Given the description of an element on the screen output the (x, y) to click on. 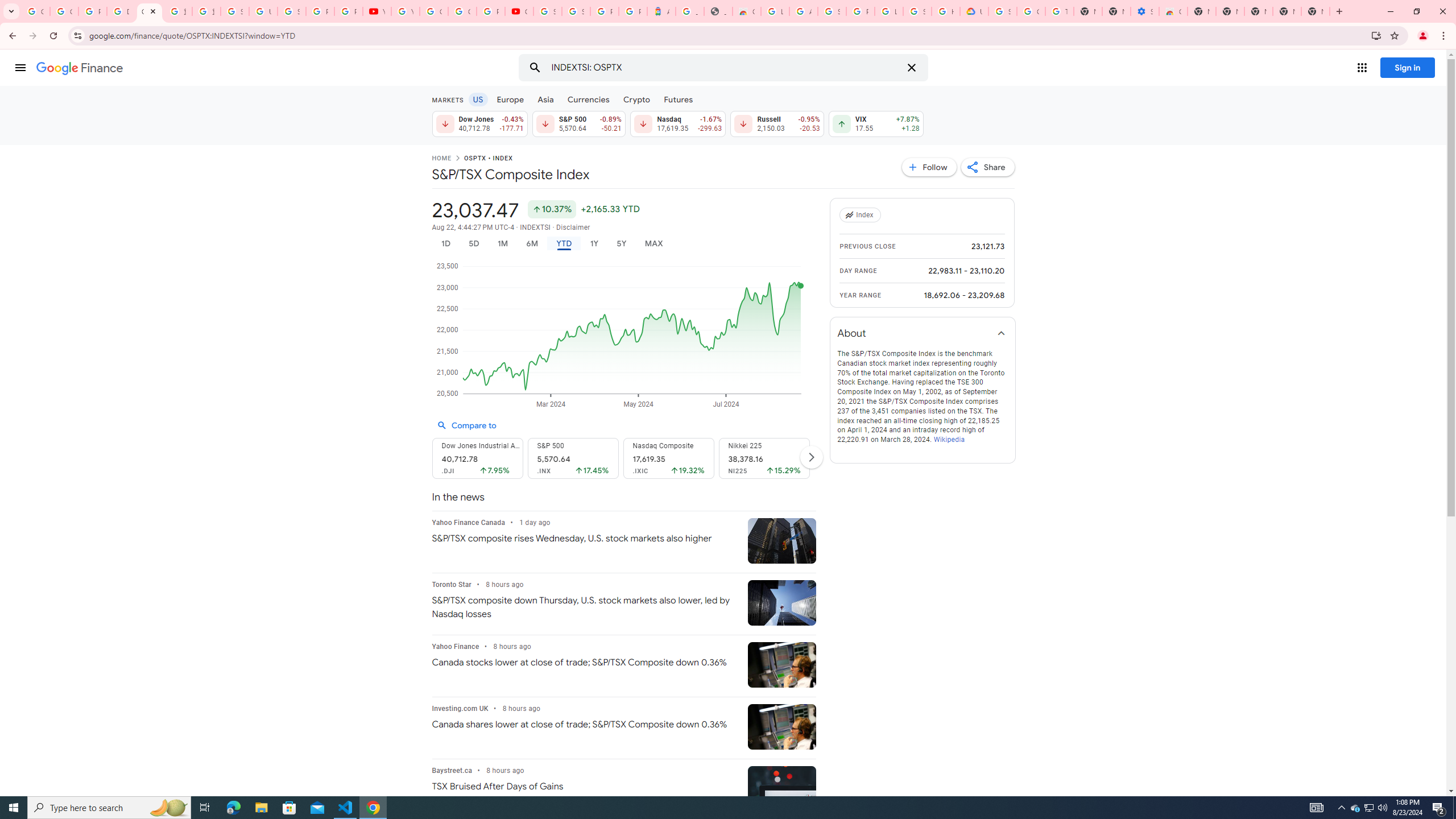
Futures (678, 99)
5Y (621, 243)
1D (445, 243)
Nasdaq 17,619.35 Down by 1.67% -299.63 (678, 123)
1M (501, 243)
